Given the description of an element on the screen output the (x, y) to click on. 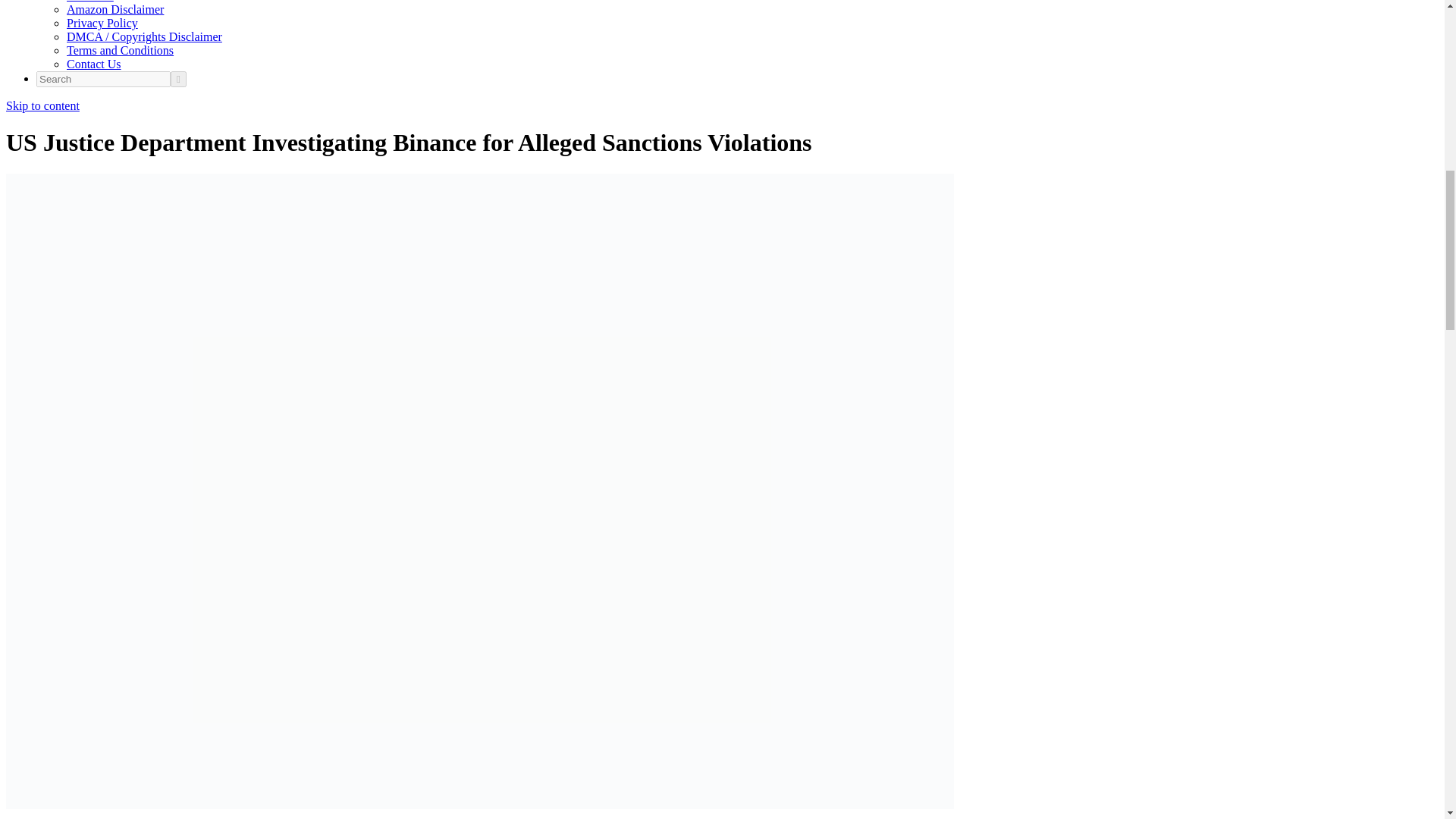
About Us (89, 1)
Skip to content (42, 105)
Amazon Disclaimer (114, 9)
Privacy Policy (102, 22)
Terms and Conditions (119, 50)
Contact Us (93, 63)
